Given the description of an element on the screen output the (x, y) to click on. 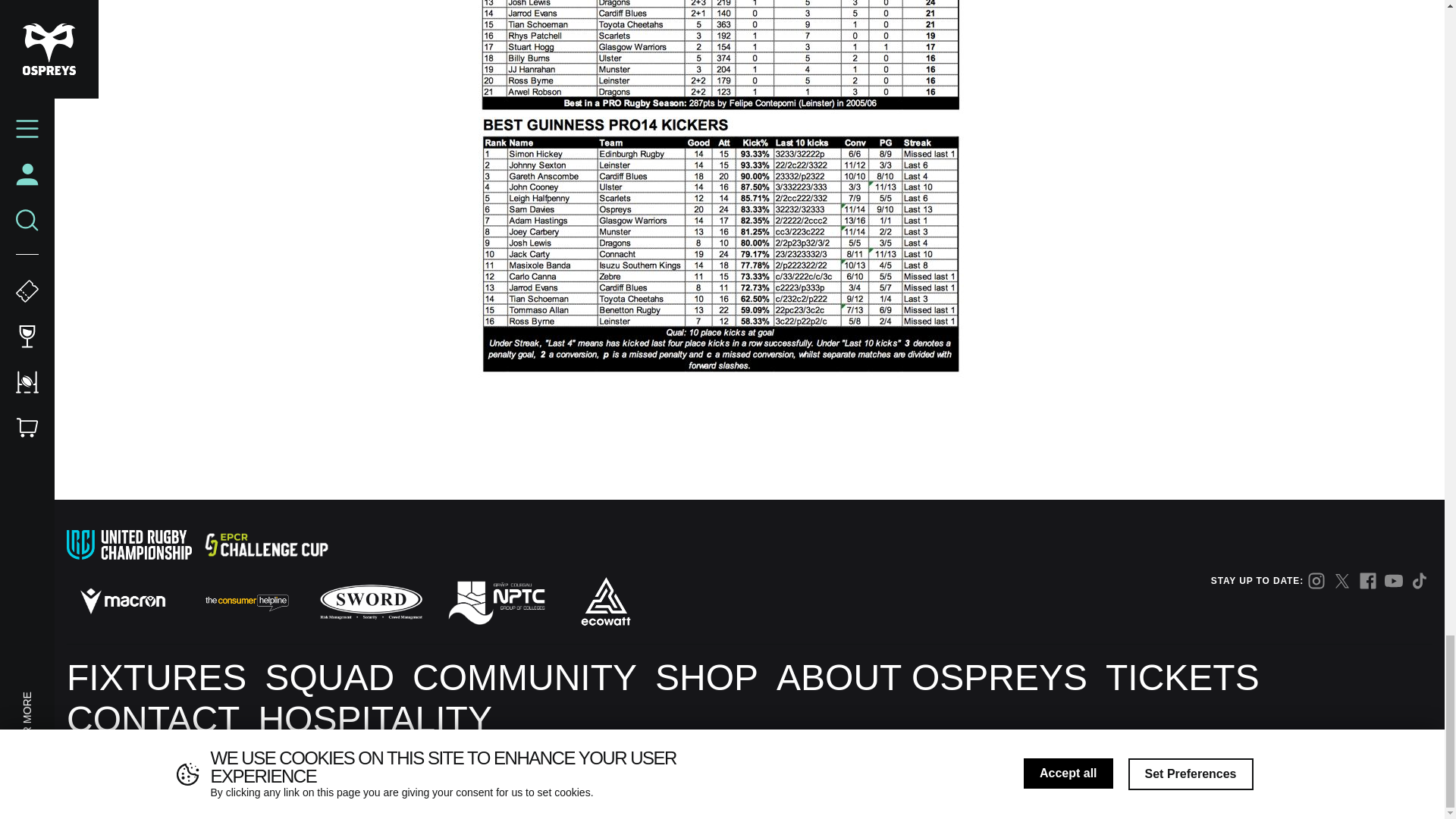
The Consumer Helpline (246, 601)
Macron (122, 601)
United Rugby Championship (129, 544)
Instagram (1315, 580)
TikTok (1419, 580)
Sword (371, 600)
Facebook (1367, 580)
NPTC (495, 601)
European Challenge Cup (266, 544)
YouTube (1393, 580)
Ecowatt (605, 600)
